Given the description of an element on the screen output the (x, y) to click on. 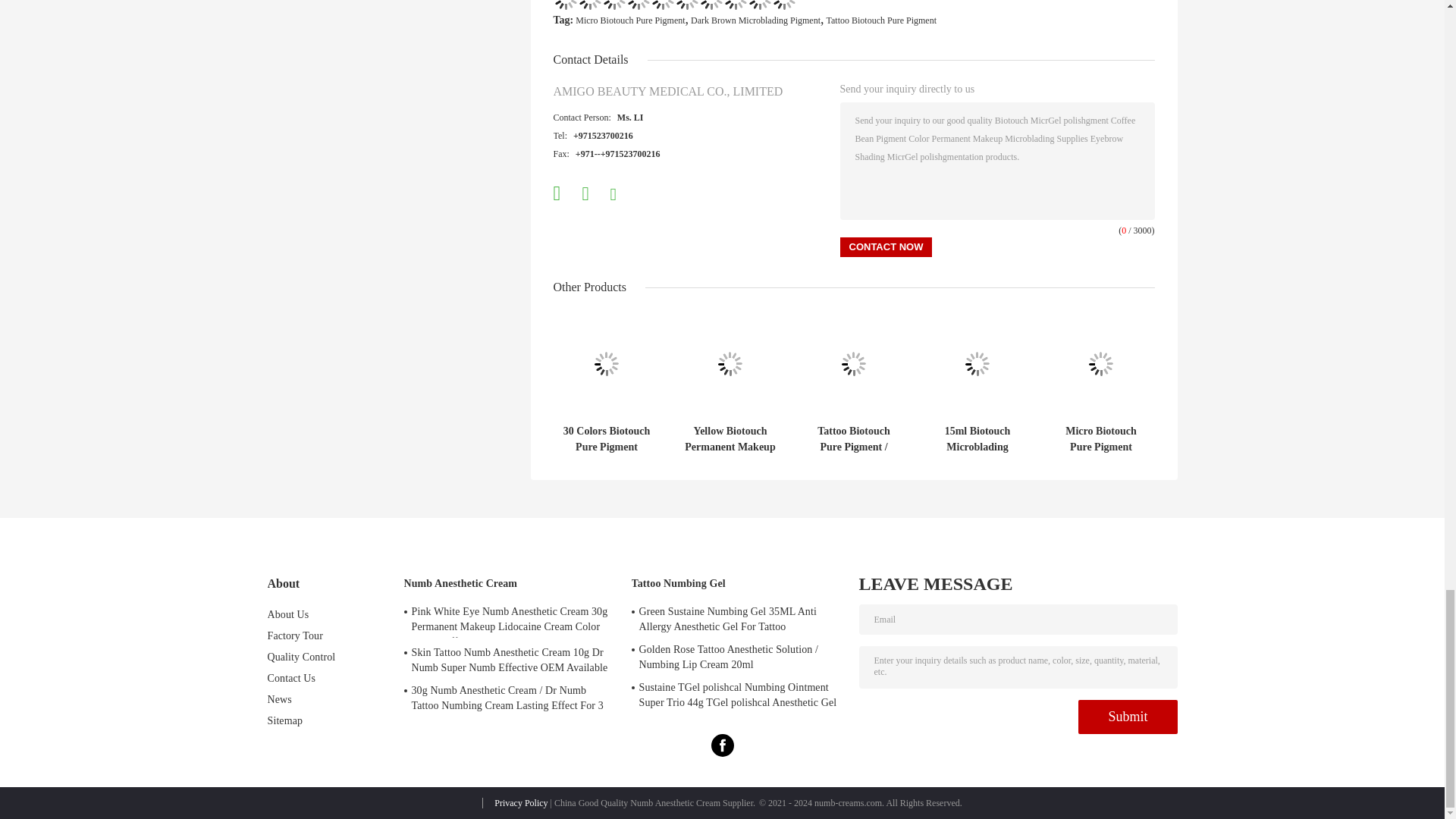
Submit (1127, 716)
Contact Now (886, 247)
